Given the description of an element on the screen output the (x, y) to click on. 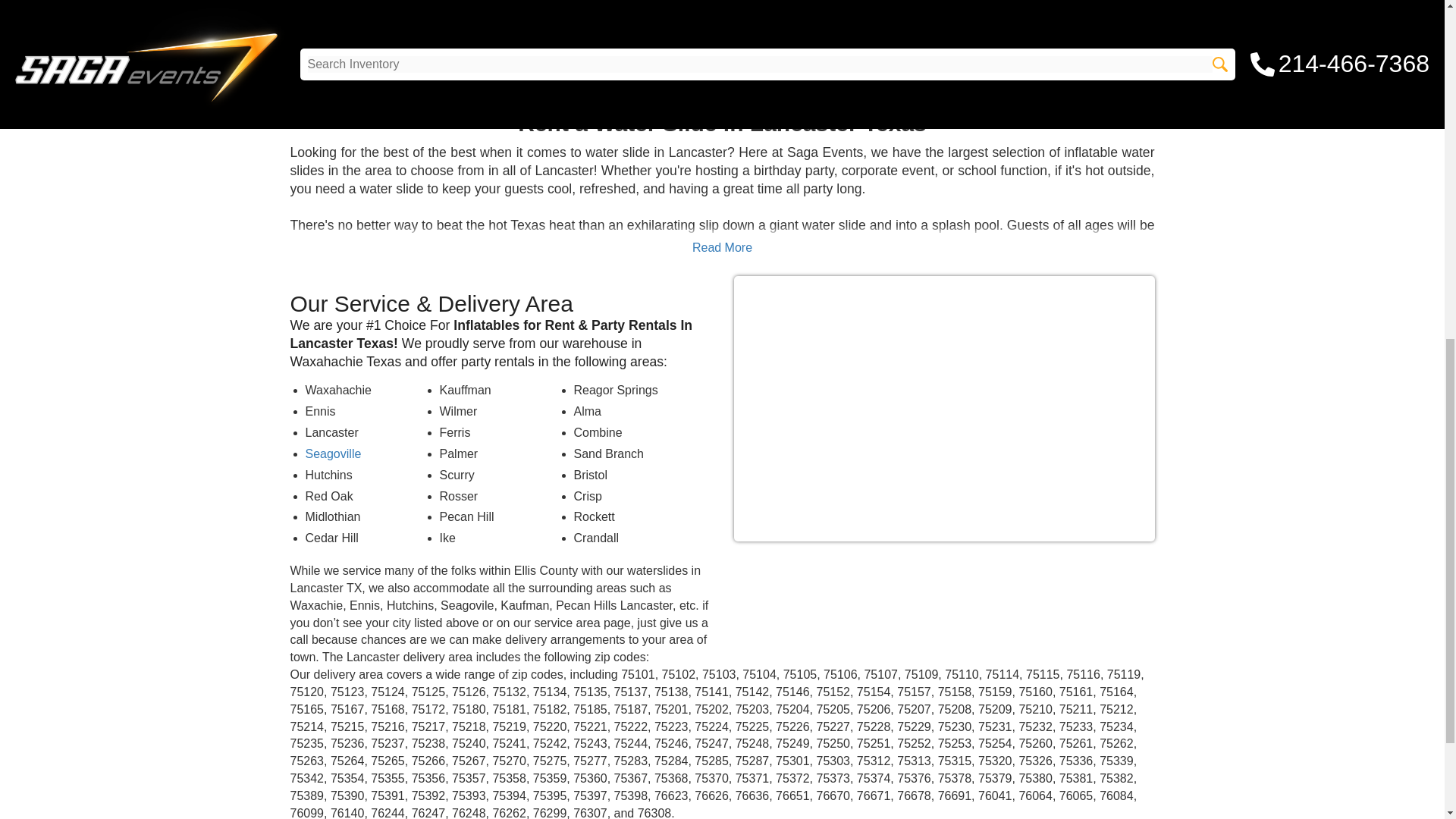
Read More (722, 246)
Seagoville Party Rentals (332, 453)
Seagoville (332, 453)
